Given the description of an element on the screen output the (x, y) to click on. 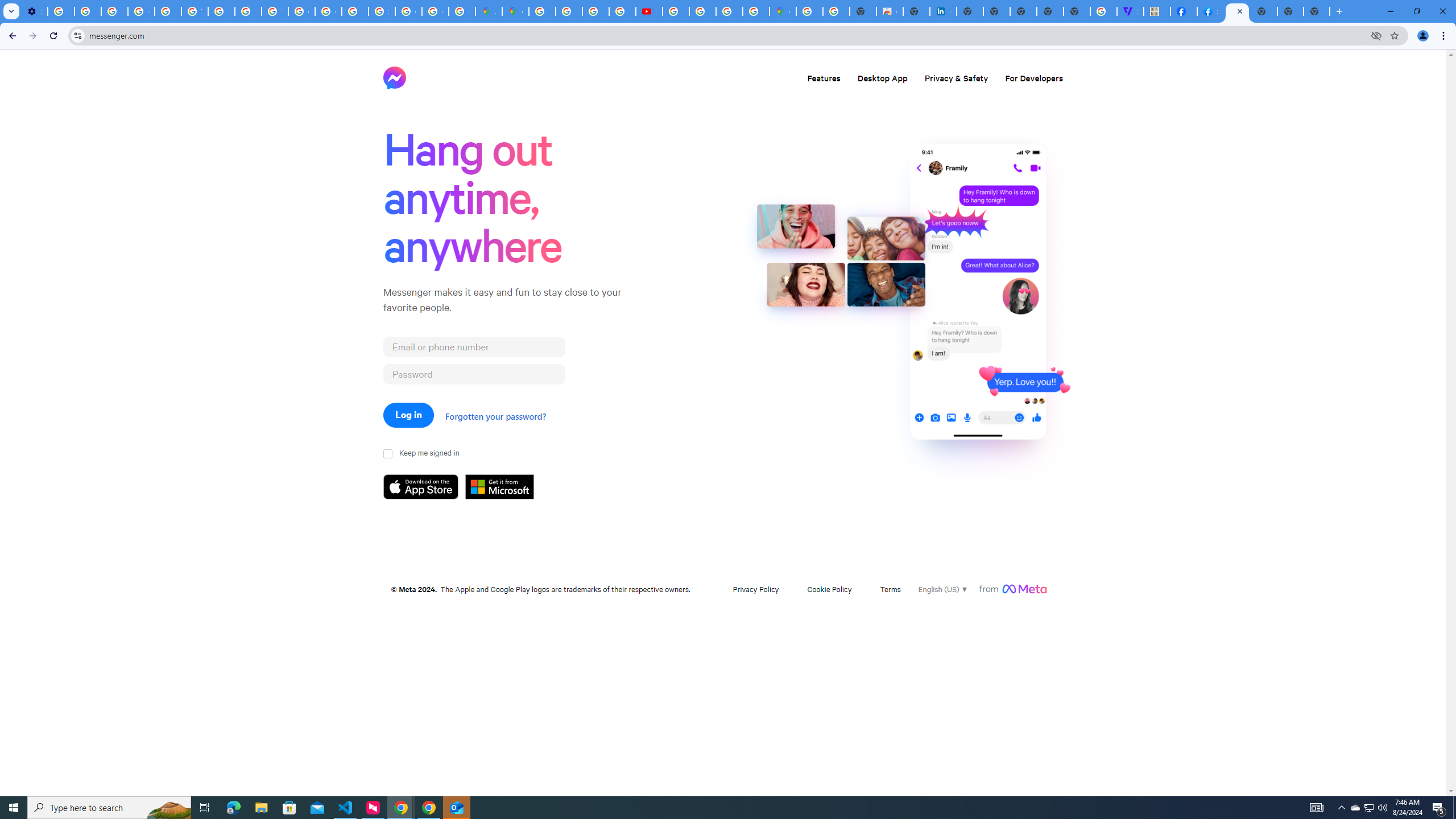
Download on the App Store (423, 487)
Messenger (394, 77)
English (US) (941, 588)
Cookie Policy (829, 588)
Learn how to find your photos - Google Photos Help (87, 11)
Blogger Policies and Guidelines - Transparency Center (542, 11)
Google Maps (515, 11)
Email or phone number (473, 346)
Messenger (394, 77)
